Given the description of an element on the screen output the (x, y) to click on. 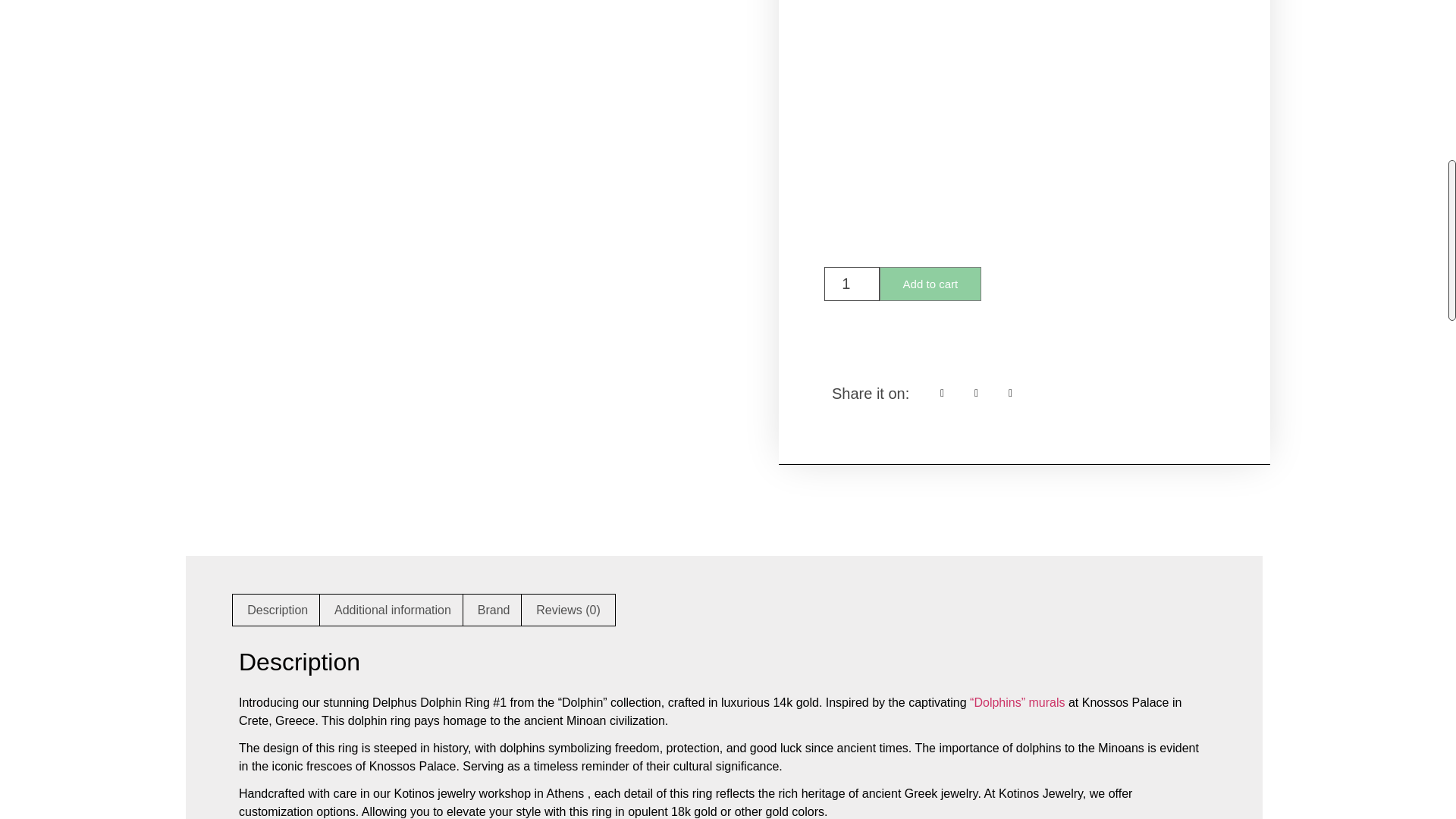
1 (851, 283)
